Given the description of an element on the screen output the (x, y) to click on. 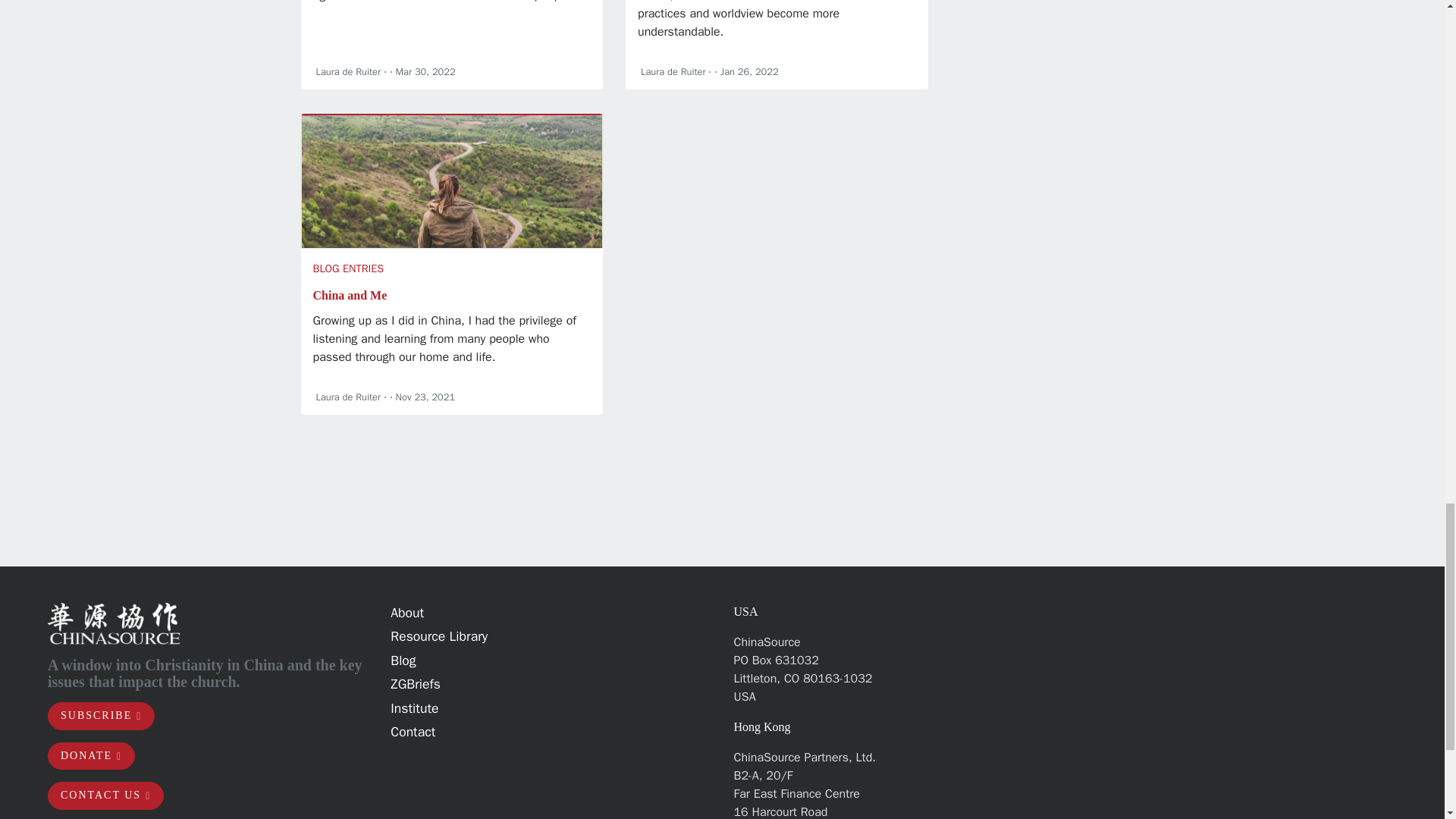
China and Me (350, 295)
BLOG ENTRIES (348, 268)
